Given the description of an element on the screen output the (x, y) to click on. 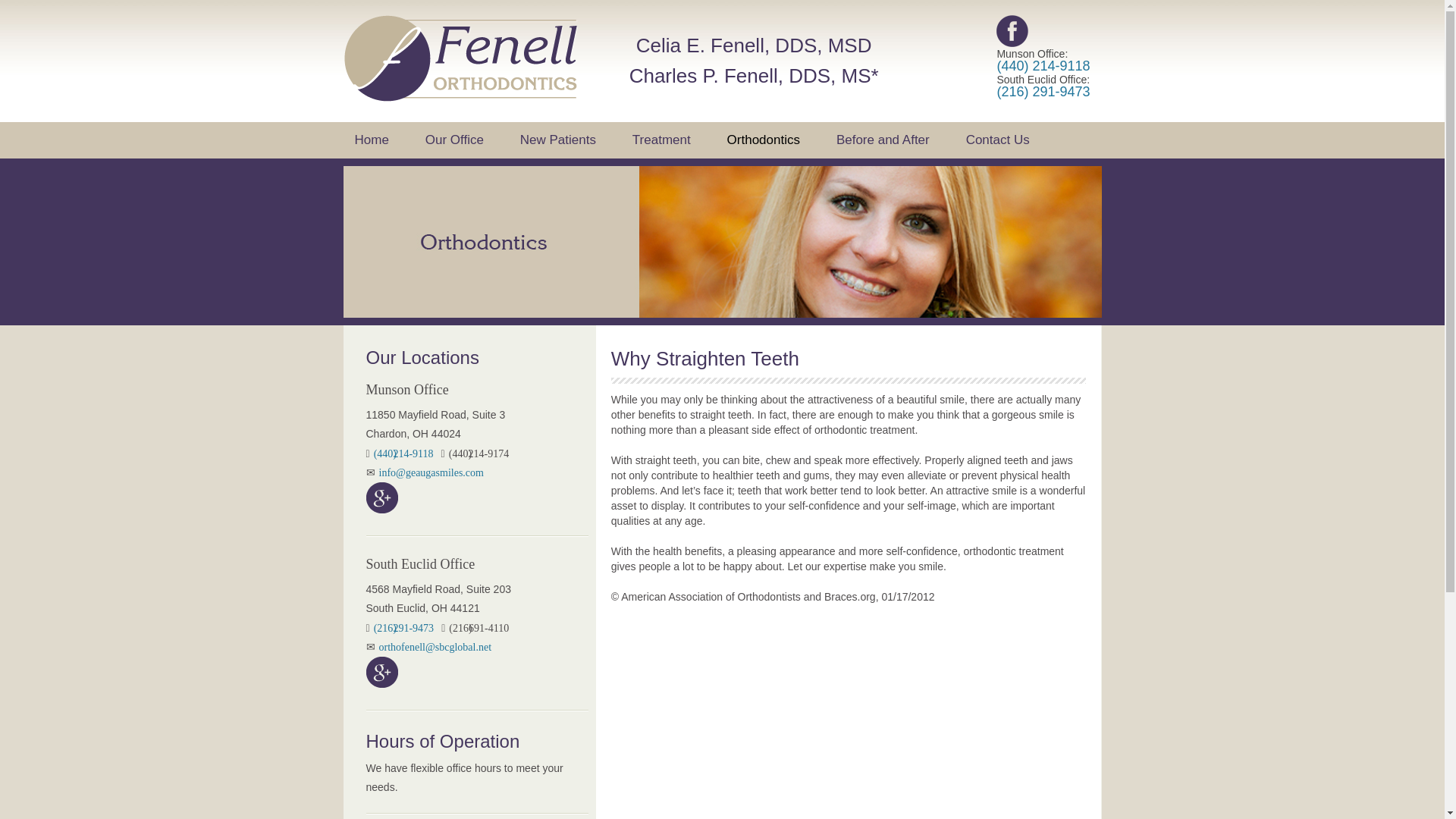
About the Office (510, 173)
New Patients (557, 140)
Home (371, 140)
First Visit (604, 173)
Our Office (454, 140)
